Given the description of an element on the screen output the (x, y) to click on. 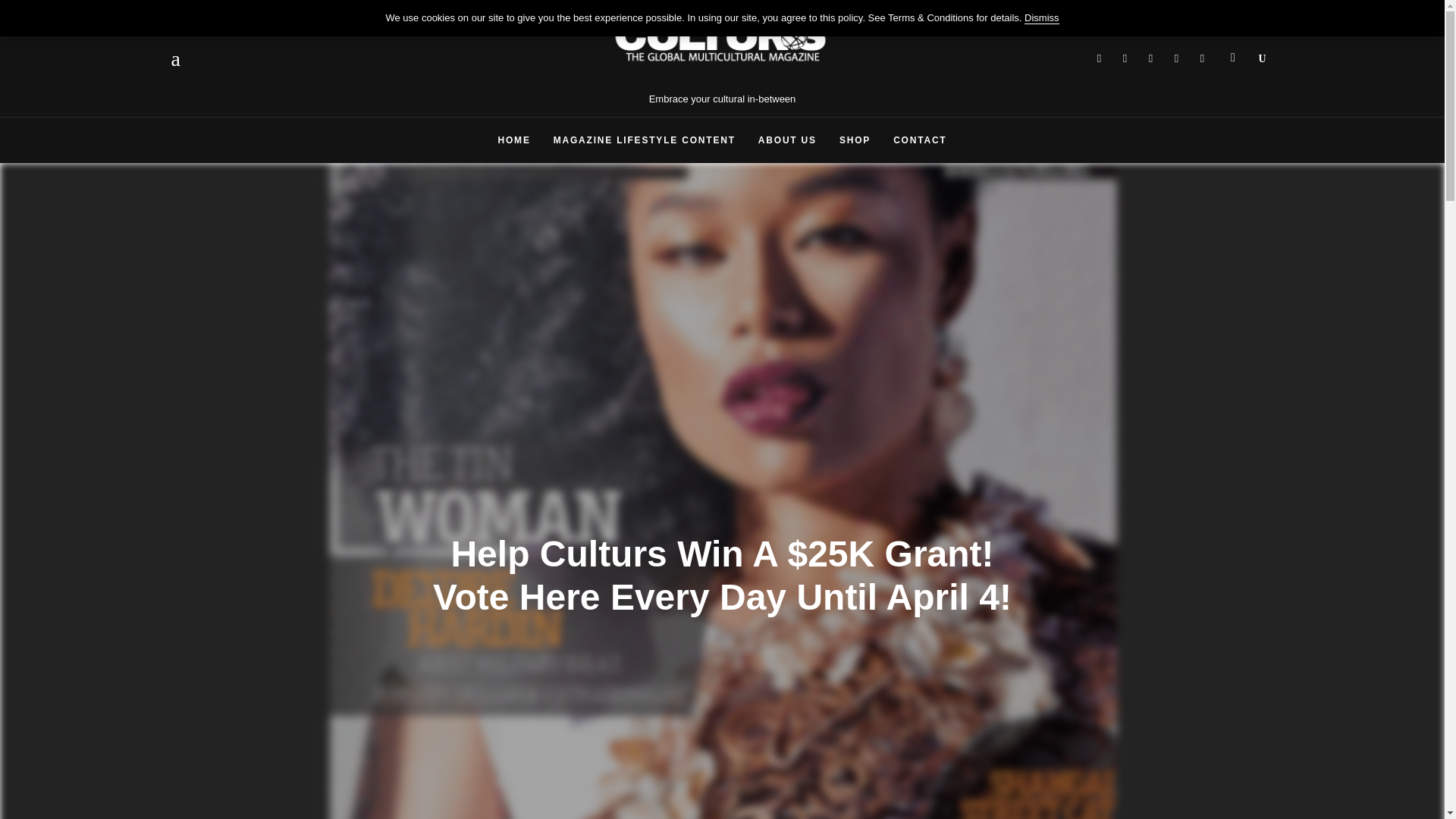
Cultursmag (1202, 58)
CULTURS INSTAGRAM (1202, 58)
CULTURS TWITTER (1125, 58)
Cultursmag (1099, 58)
CULTURS PINTEREST PAGE (1150, 58)
HOME (513, 140)
Cultursmag (1176, 58)
MAGAZINE LIFESTYLE CONTENT (643, 140)
CULTURS FACEBOOK PAGE (1099, 58)
CULTURS YOUTUBE CHANNEL (1176, 58)
